Given the description of an element on the screen output the (x, y) to click on. 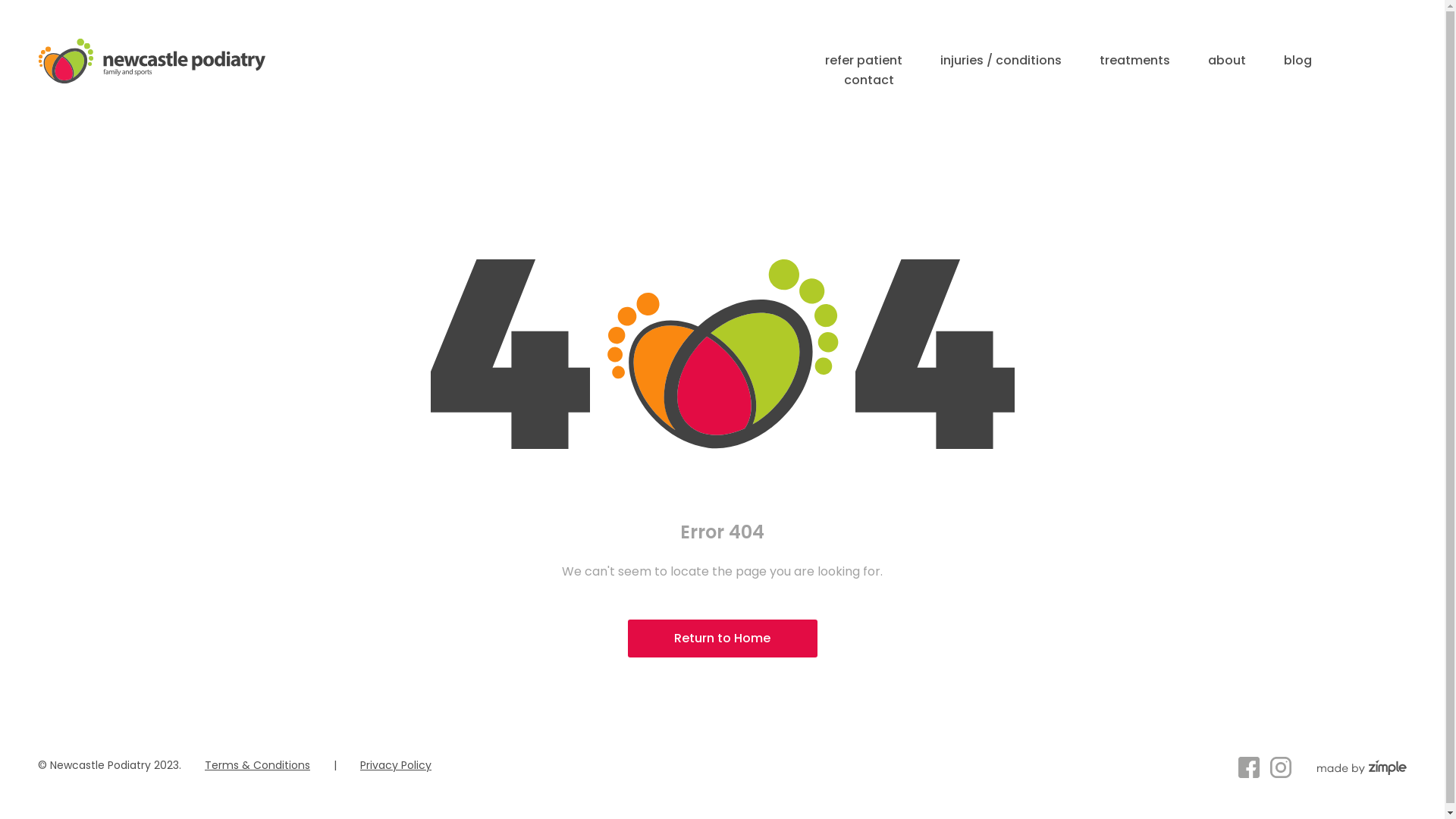
about Element type: text (1226, 60)
blog Element type: text (1297, 60)
Terms & Conditions Element type: text (257, 764)
Facebook Element type: hover (1248, 767)
refer patient Element type: text (863, 60)
treatments Element type: text (1134, 60)
Privacy Policy Element type: text (395, 764)
injuries / conditions Element type: text (1000, 60)
contact Element type: text (869, 79)
Return to Home Element type: text (722, 638)
Instagram Element type: hover (1280, 767)
